Given the description of an element on the screen output the (x, y) to click on. 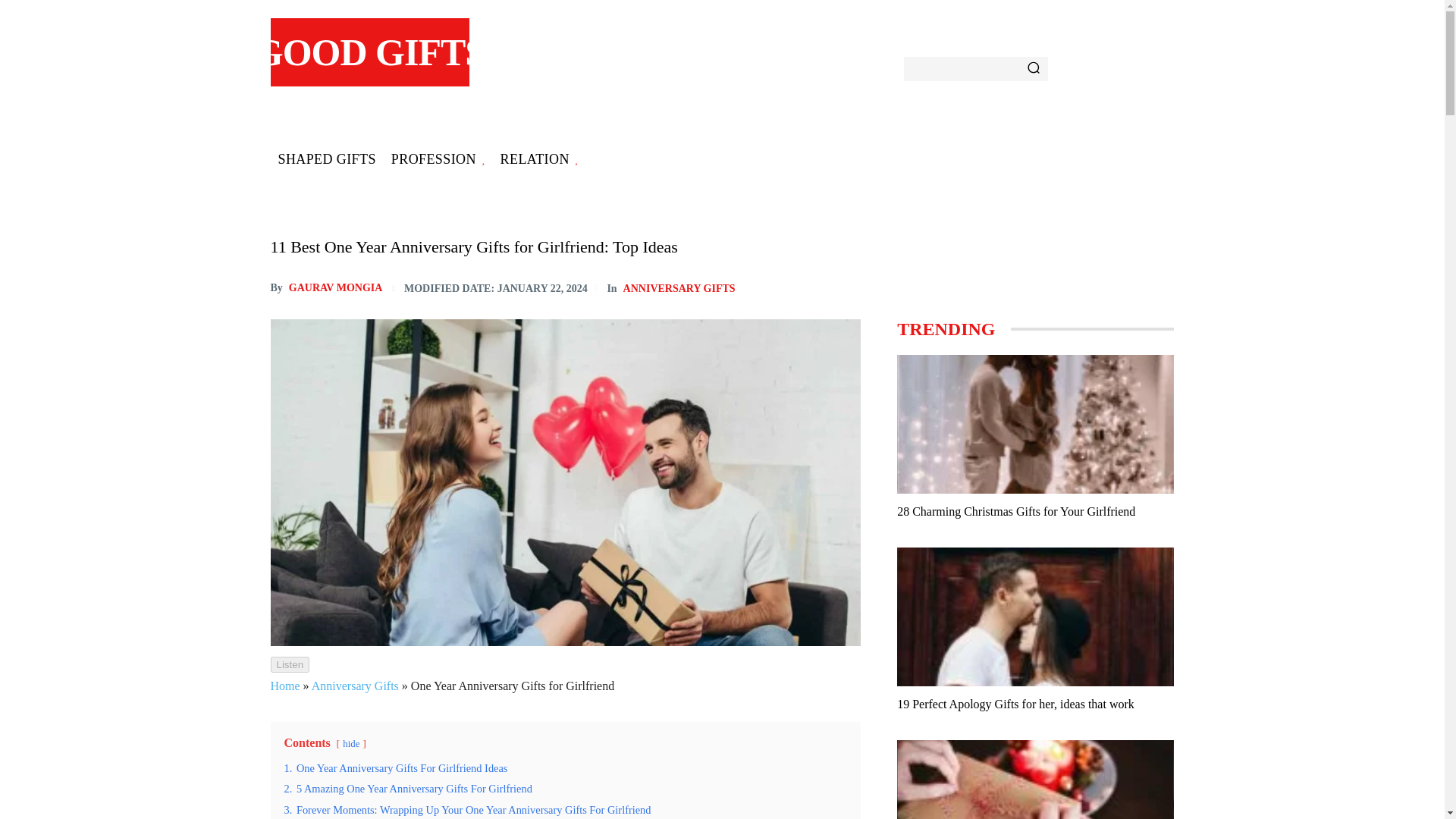
GOOD GIFTS (368, 52)
PROFESSION (438, 159)
SHAPED GIFTS (325, 159)
